Given the description of an element on the screen output the (x, y) to click on. 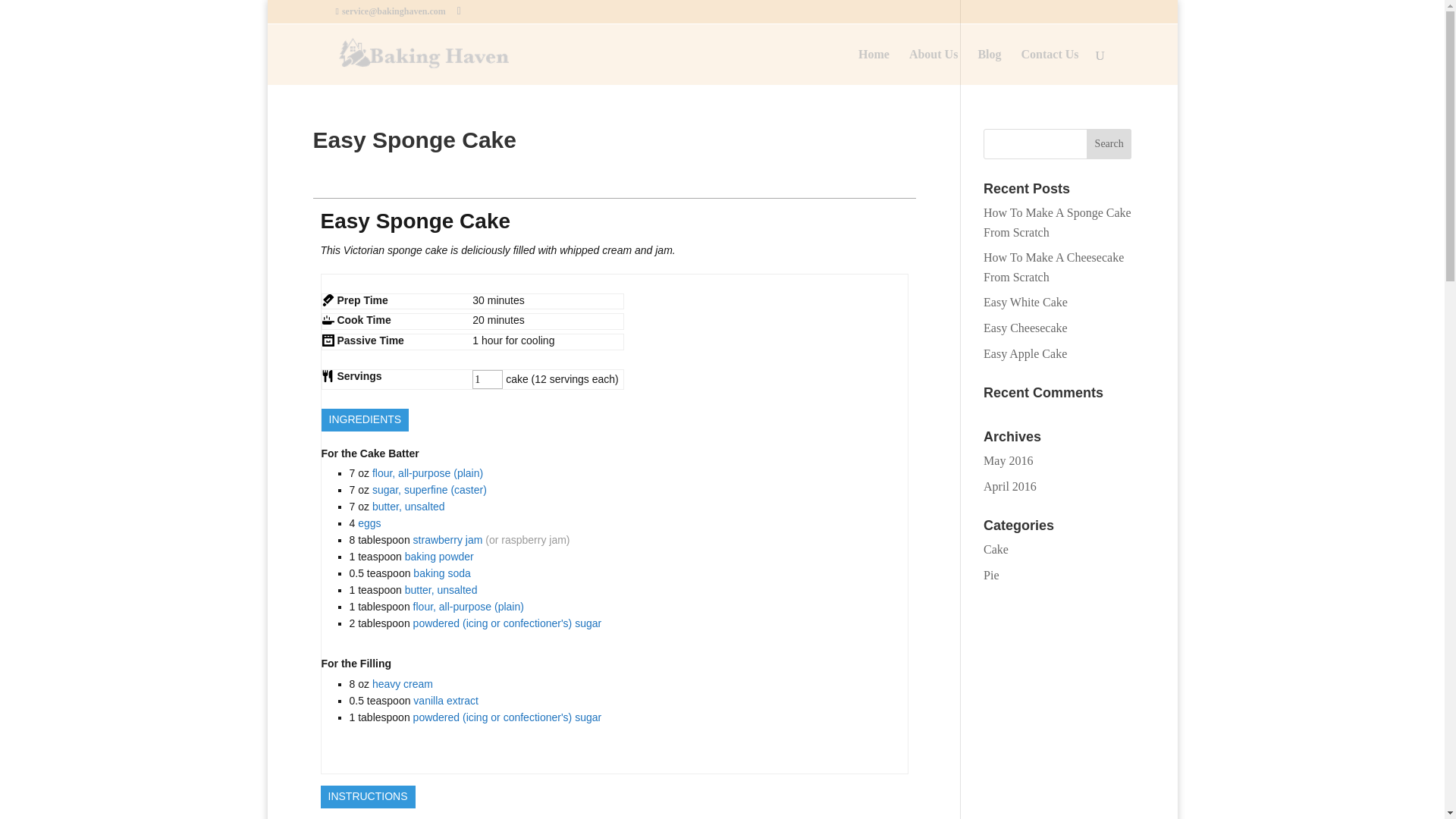
Contact Us (1049, 67)
1 (486, 379)
About Us (933, 67)
eggs (369, 522)
butter, unsalted (440, 589)
butter, unsalted (408, 506)
baking powder (439, 556)
vanilla extract (446, 700)
heavy cream (402, 684)
strawberry jam (448, 539)
baking soda (441, 573)
Search (1109, 143)
